Given the description of an element on the screen output the (x, y) to click on. 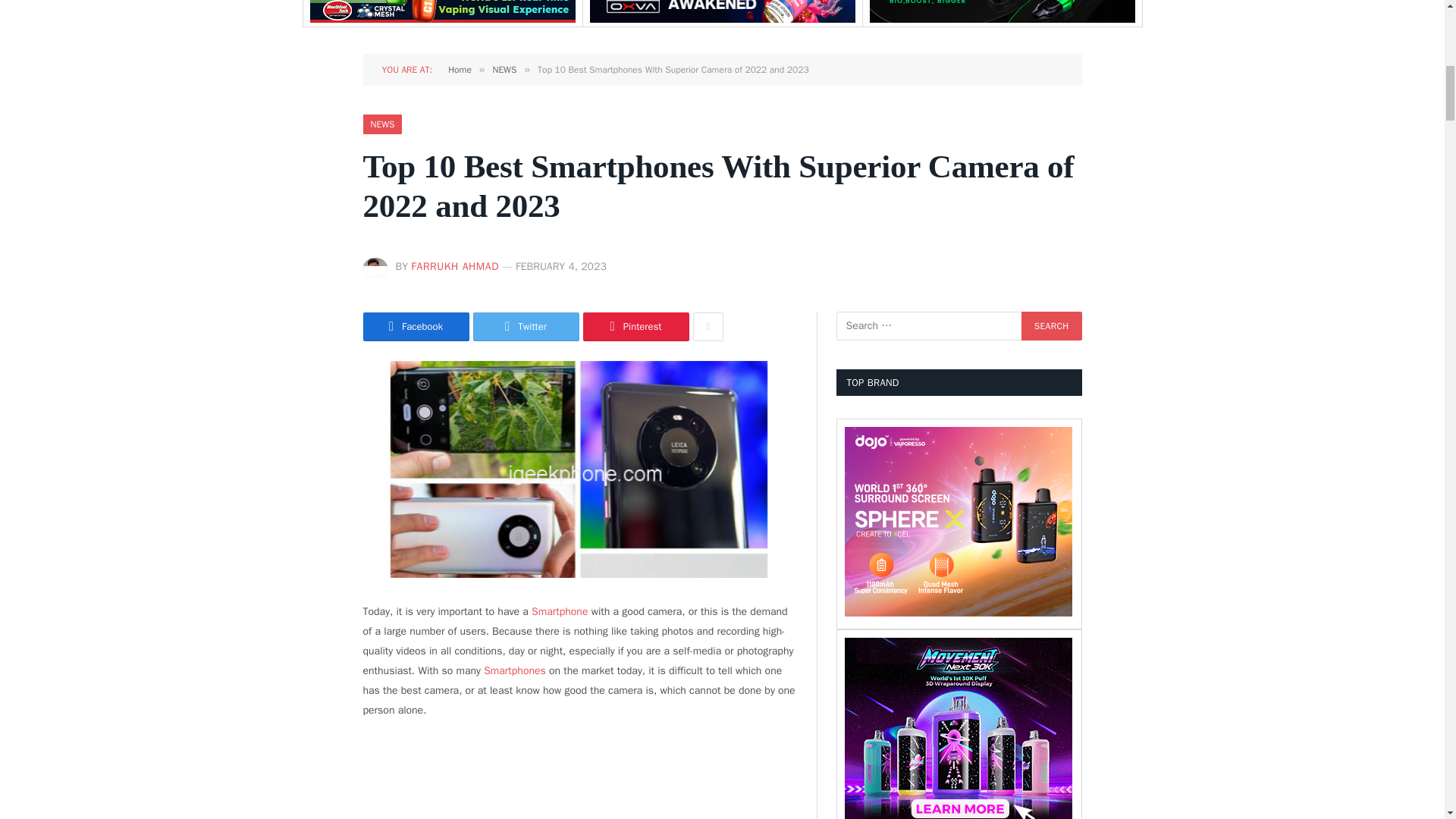
Search (1051, 326)
Posts by Farrukh Ahmad (454, 266)
Search (1051, 326)
Show More Social Sharing (708, 326)
Share on Facebook (415, 326)
Share on Twitter (526, 326)
Share on Pinterest (635, 326)
